Given the description of an element on the screen output the (x, y) to click on. 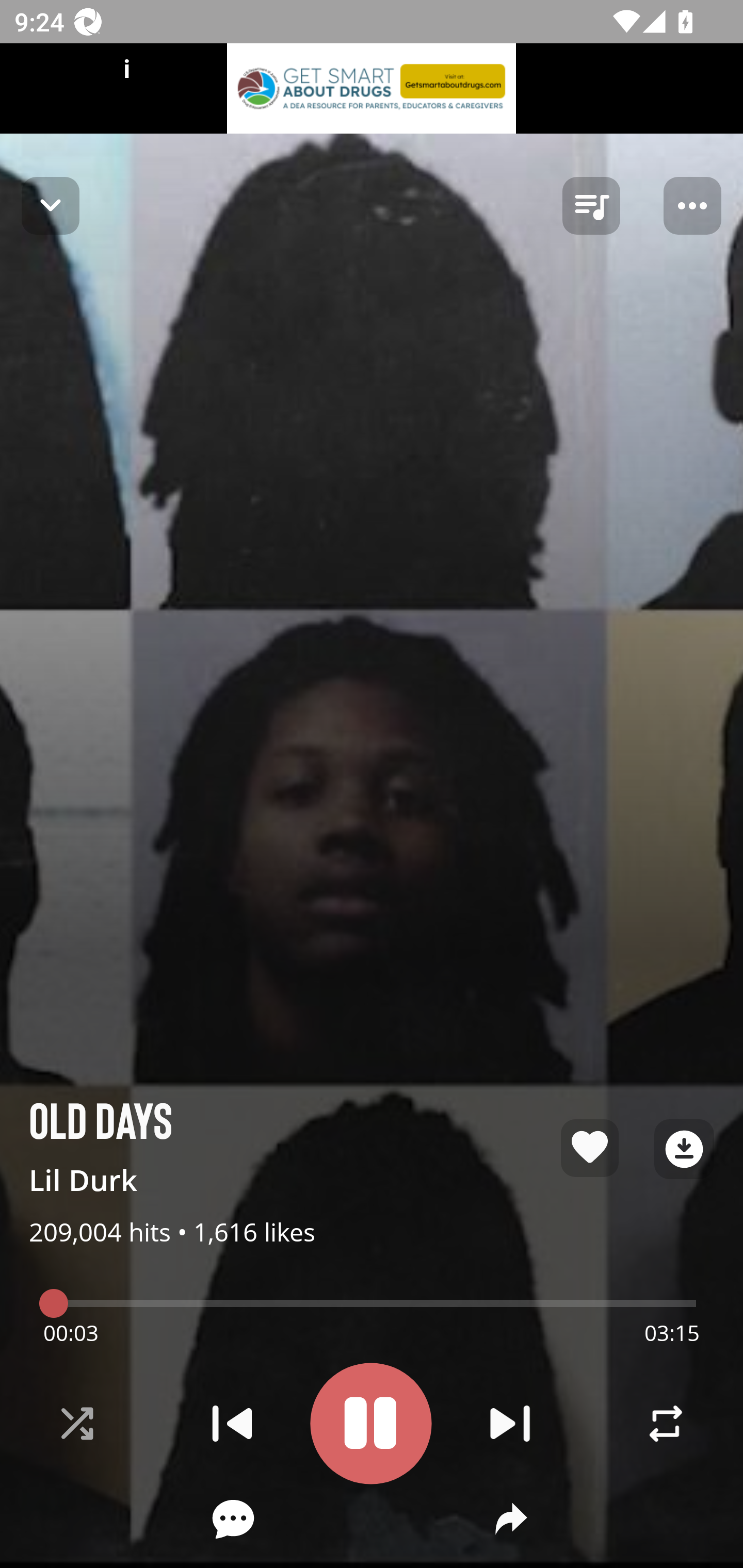
Navigate up (50, 205)
queue (590, 206)
Player options (692, 206)
